Given the description of an element on the screen output the (x, y) to click on. 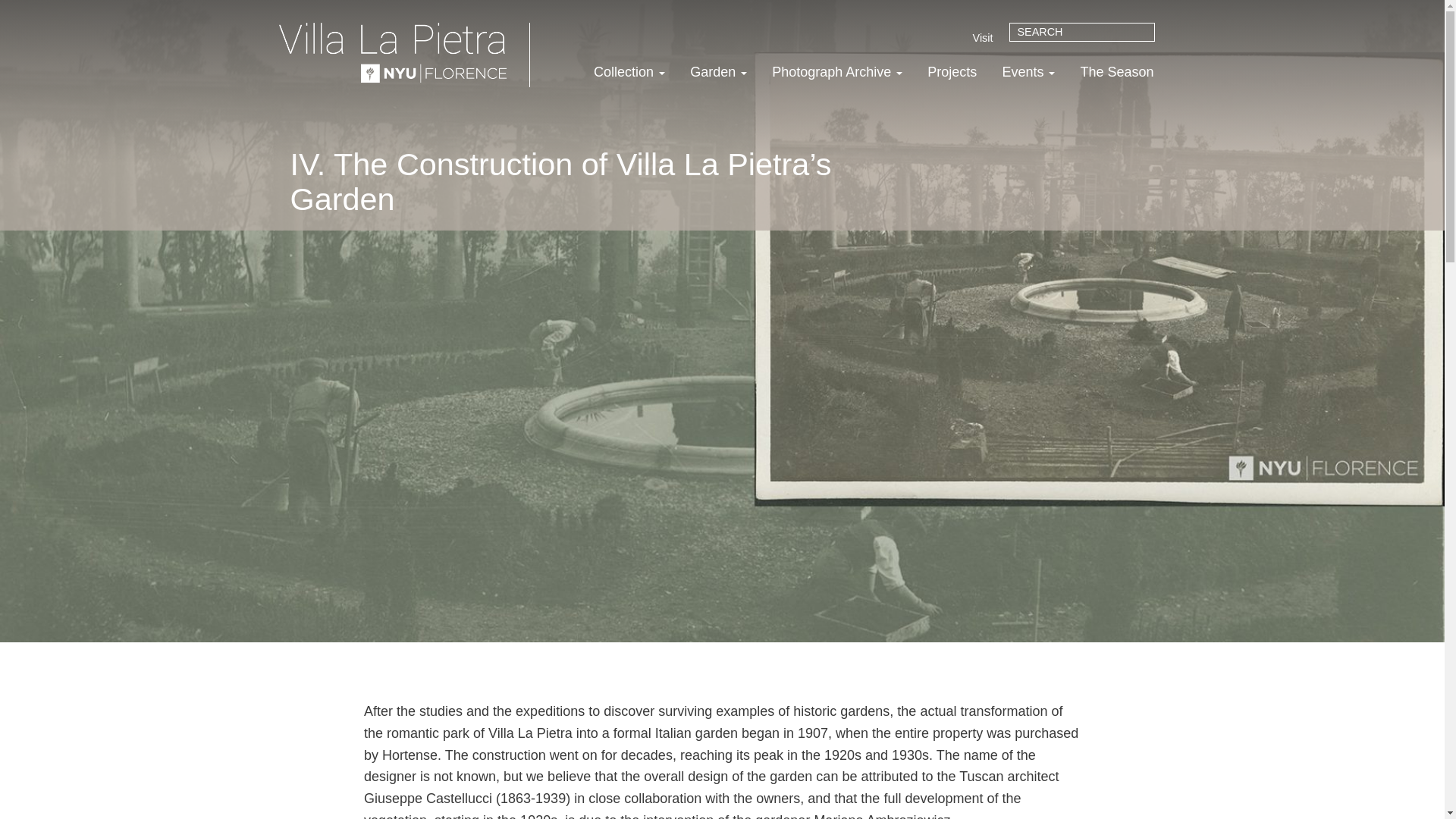
Projects (951, 72)
Photograph Archive (837, 72)
Garden (718, 72)
The Season (1116, 72)
Visit (982, 41)
Events (1028, 72)
Collection (628, 72)
